Given the description of an element on the screen output the (x, y) to click on. 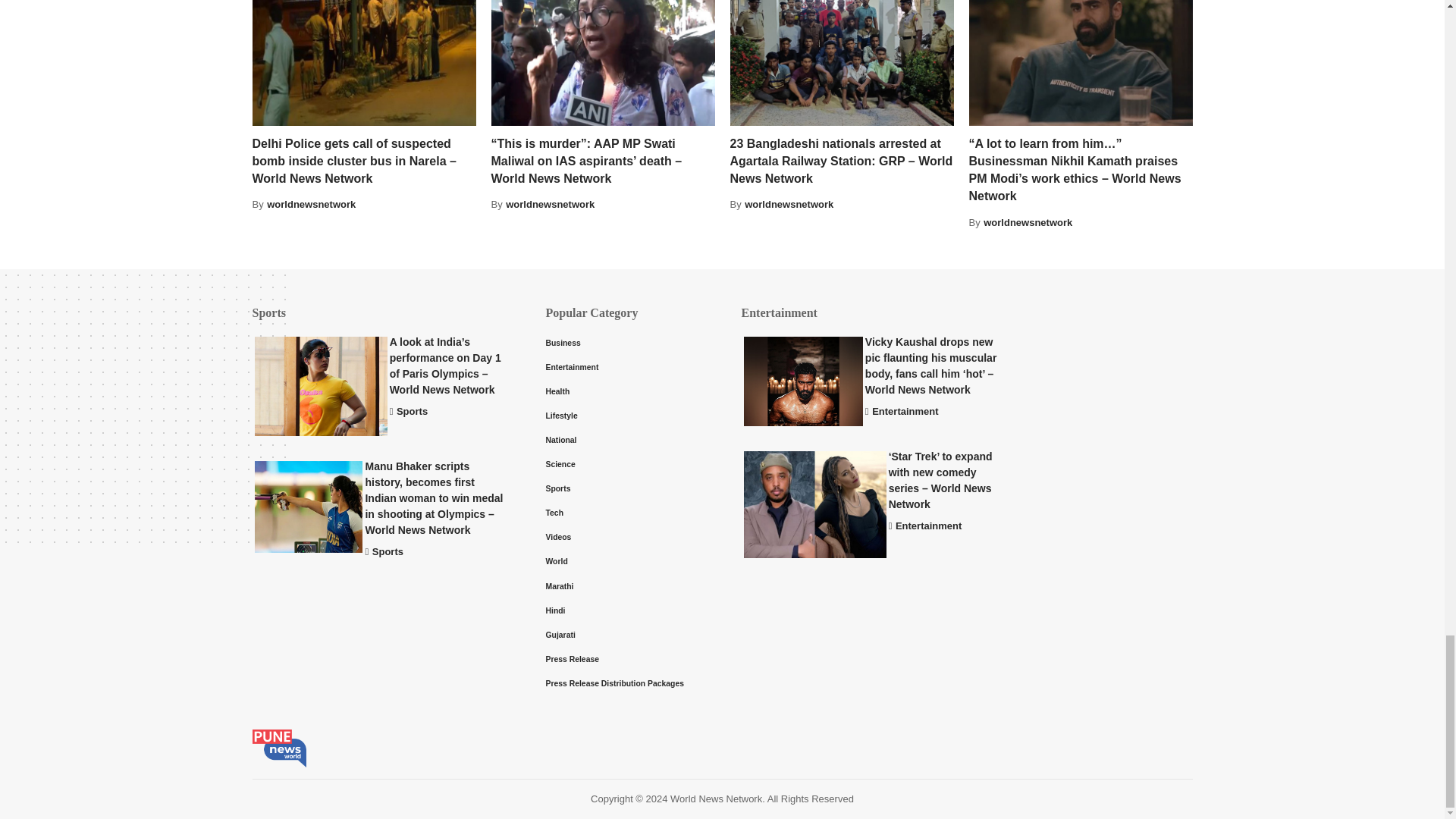
Latest World News Update (278, 748)
